Given the description of an element on the screen output the (x, y) to click on. 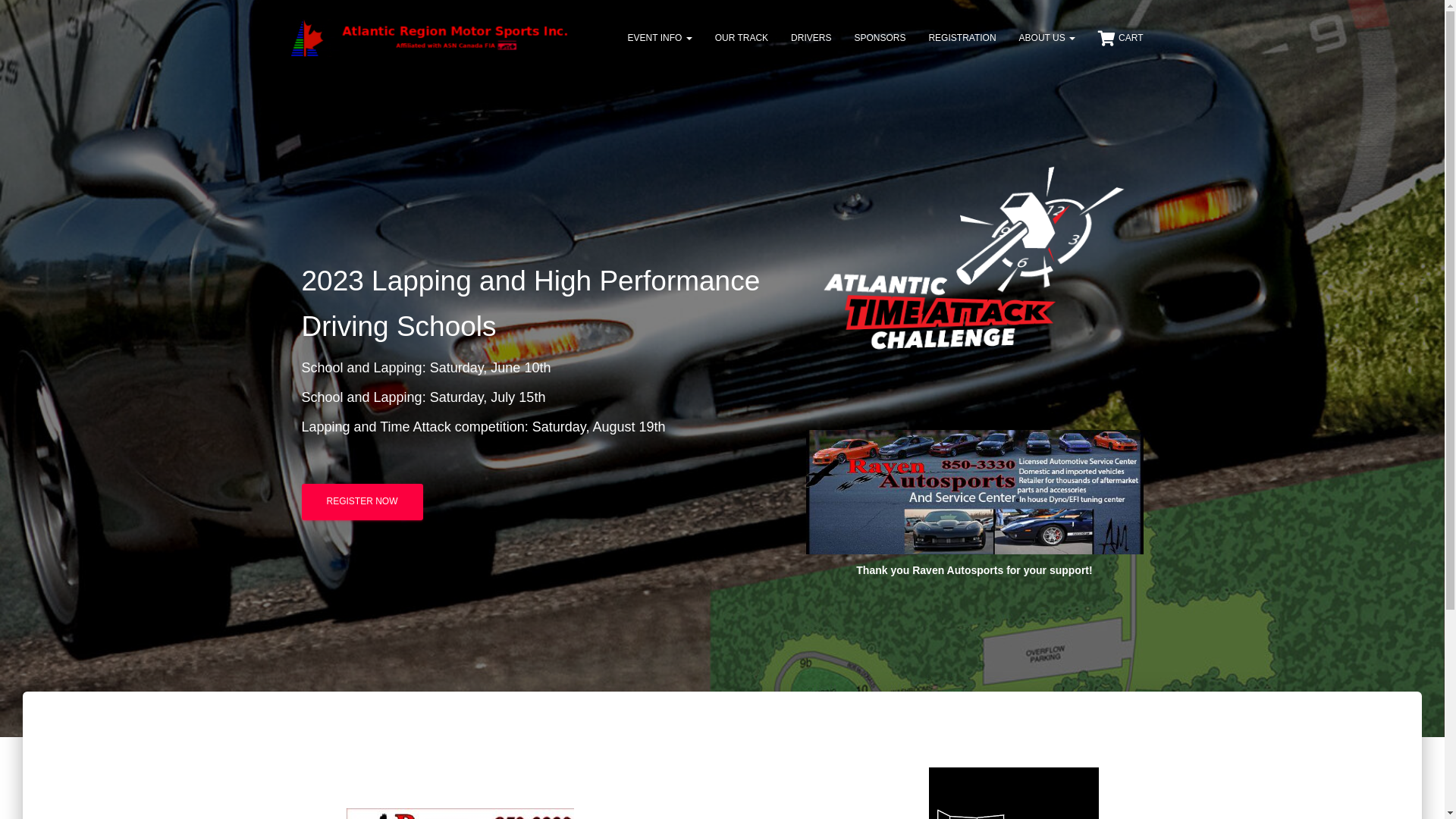
ABOUT US Element type: text (1046, 37)
DRIVERS Element type: text (810, 37)
Atlantic Time Attack Challenge Element type: hover (430, 37)
EVENT INFO Element type: text (659, 37)
REGISTER NOW Element type: text (362, 501)
SPONSORS Element type: text (879, 37)
OUR TRACK Element type: text (741, 37)
REGISTRATION Element type: text (961, 37)
CART Element type: text (1120, 37)
